Given the description of an element on the screen output the (x, y) to click on. 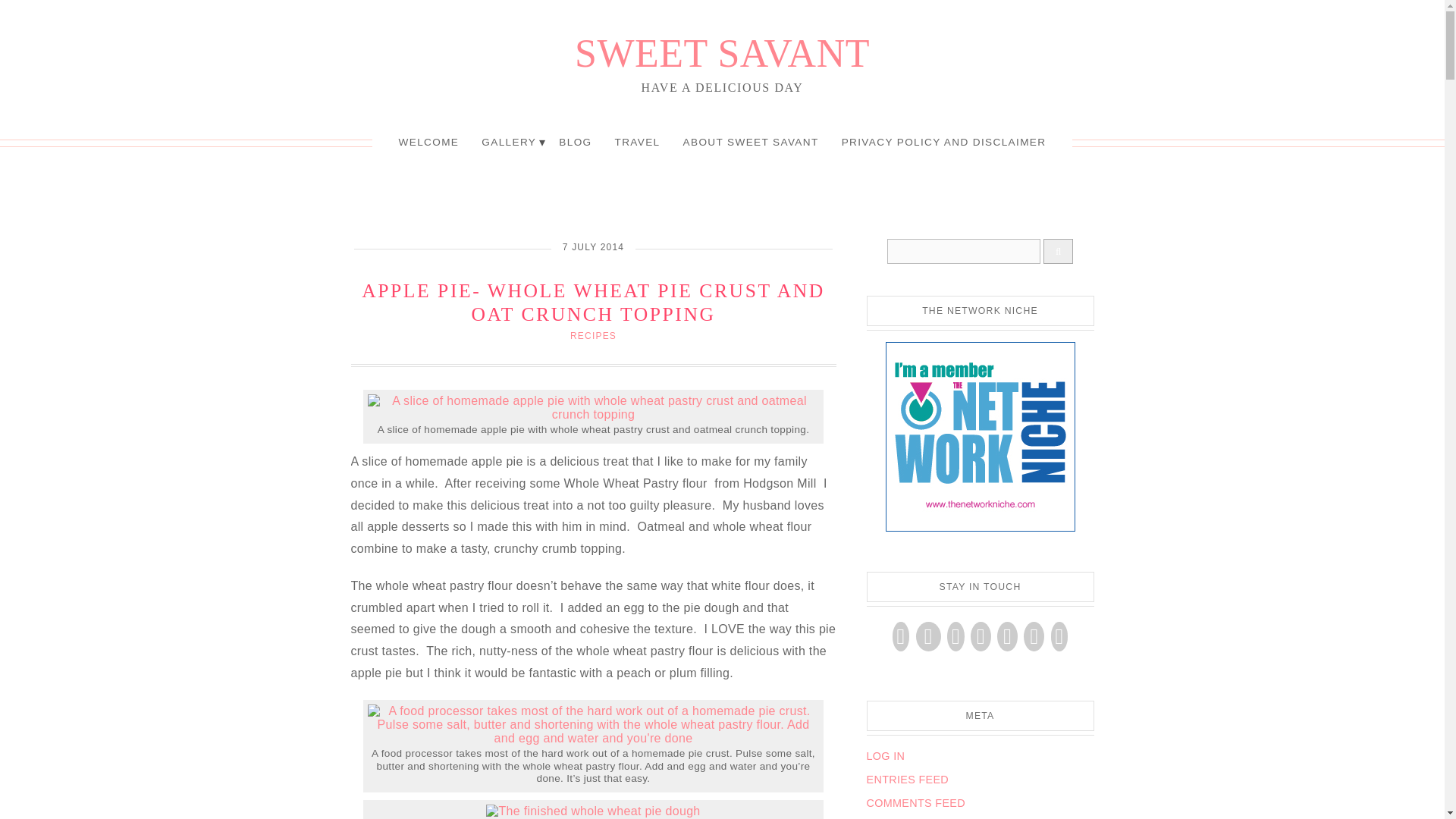
WELCOME (428, 142)
RECIPES (592, 335)
APPLE PIE- WHOLE WHEAT PIE CRUST AND OAT CRUNCH TOPPING (593, 302)
TRAVEL (637, 142)
Search (963, 251)
ABOUT SWEET SAVANT (750, 142)
Apple Pie- Whole Wheat Pie Crust and Oat Crunch Topping (593, 302)
BLOG (574, 142)
GALLERY (508, 142)
SWEET SAVANT (722, 53)
PRIVACY POLICY AND DISCLAIMER (943, 142)
The Network Niche (980, 527)
